Given the description of an element on the screen output the (x, y) to click on. 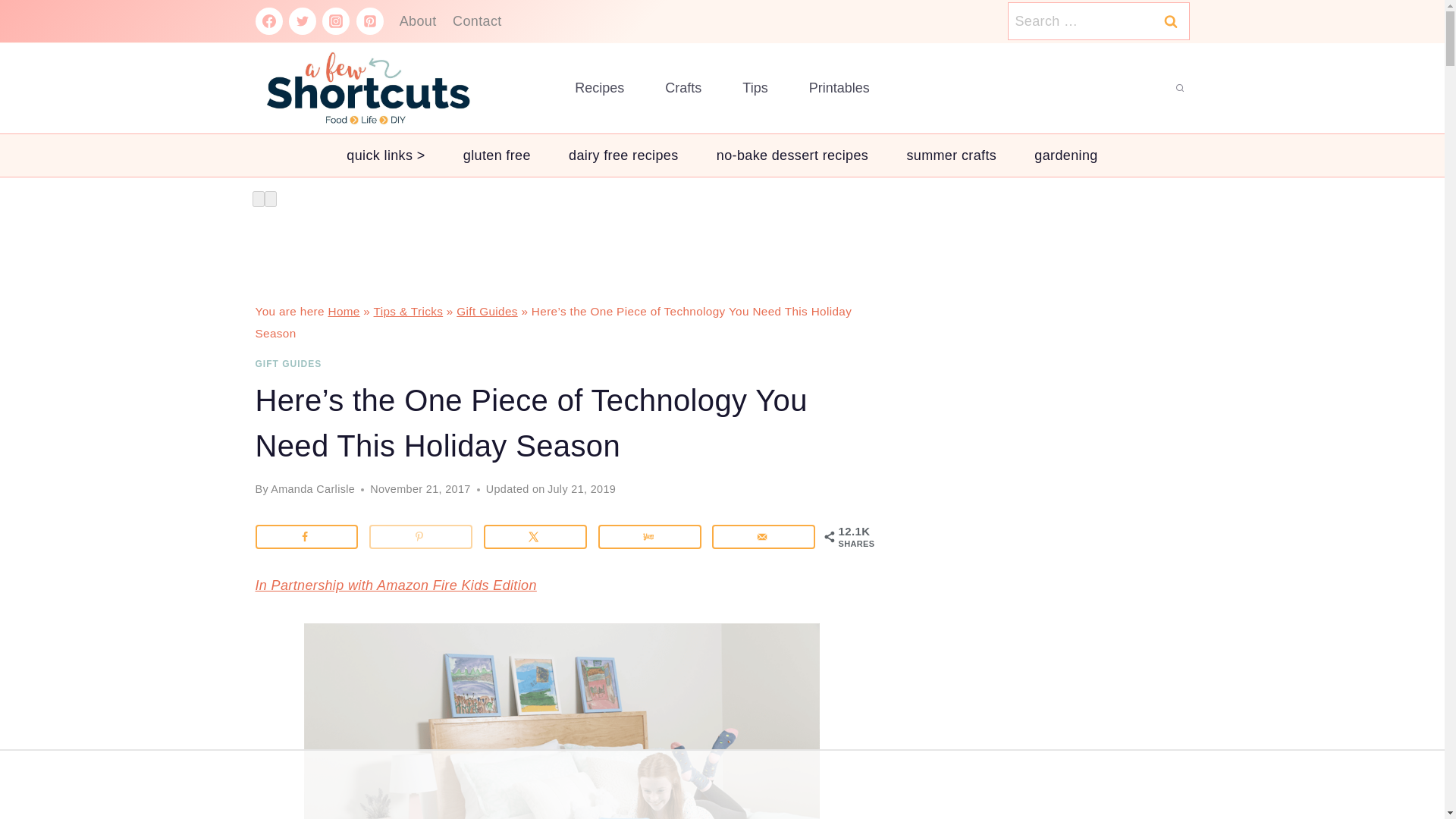
Search (1170, 24)
Printables (839, 87)
Recipes (599, 87)
Home (343, 310)
Amanda Carlisle (312, 489)
no-bake dessert recipes (792, 155)
In Partnership with Amazon Fire Kids Edition (394, 585)
Share on Facebook (306, 536)
Send over email (763, 536)
gardening (1065, 155)
gluten free (497, 155)
GIFT GUIDES (287, 363)
Contact (476, 21)
About (417, 21)
dairy free recipes (623, 155)
